Given the description of an element on the screen output the (x, y) to click on. 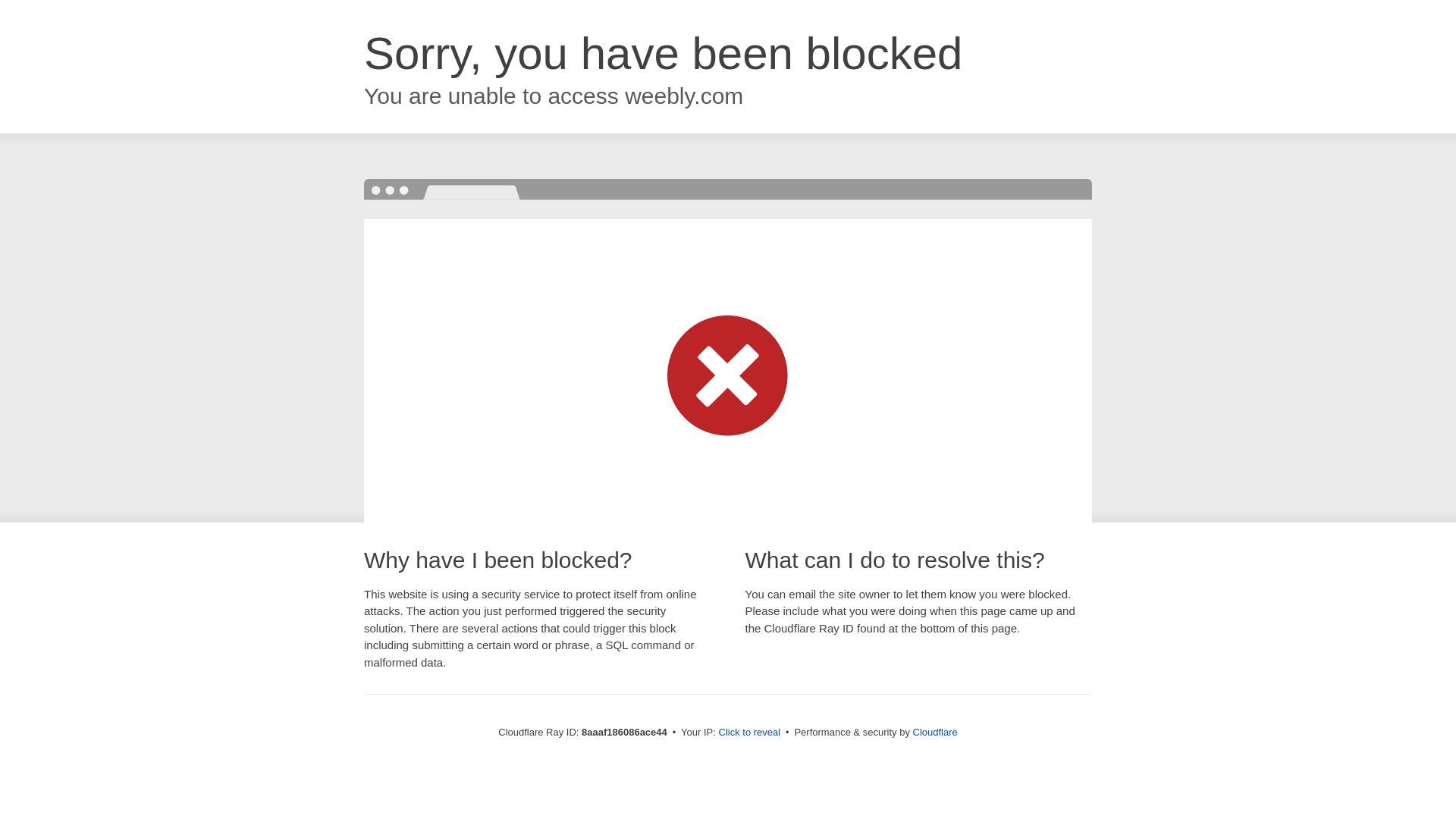
Click to reveal (749, 732)
Cloudflare (935, 731)
